Given the description of an element on the screen output the (x, y) to click on. 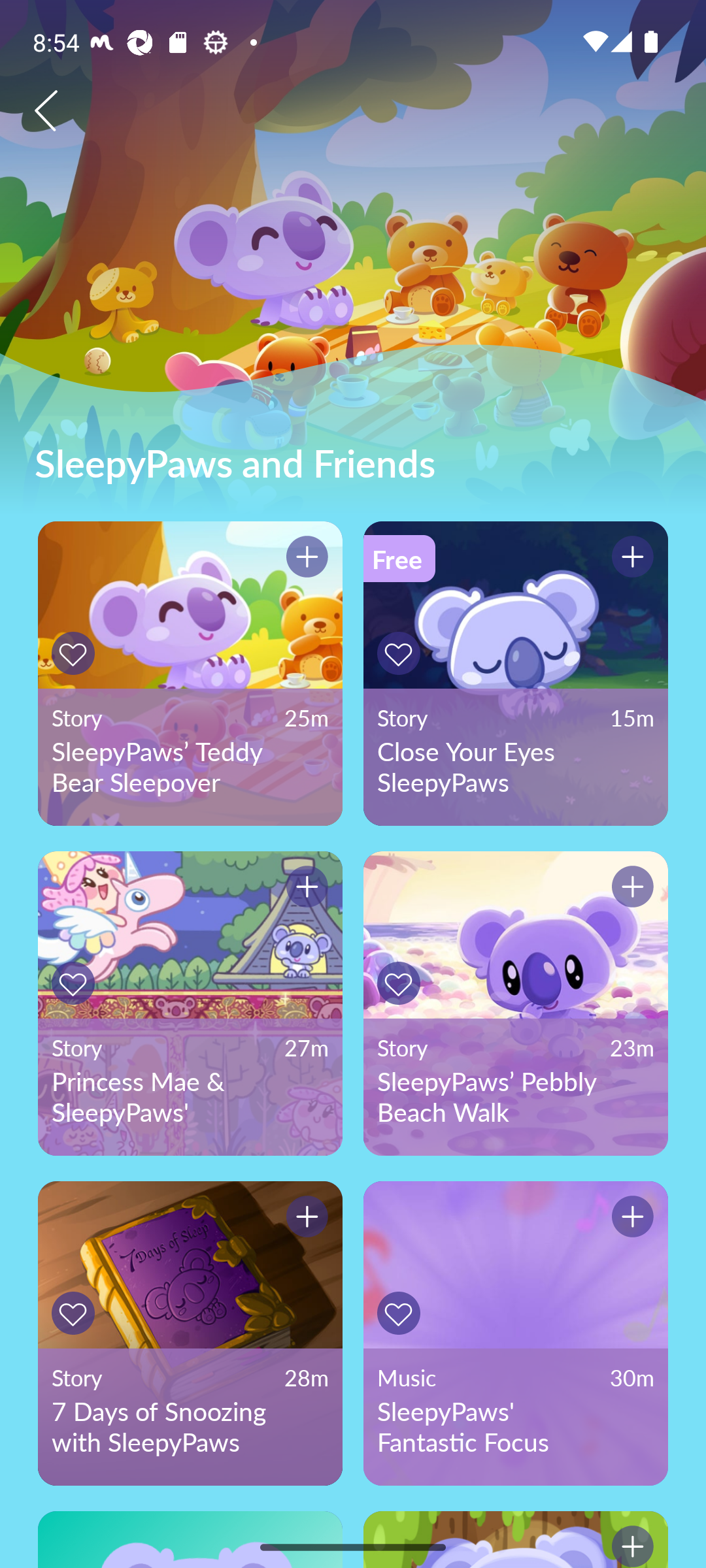
Button (304, 558)
Button (629, 558)
Button (76, 652)
Button (401, 652)
Button (304, 889)
Button (629, 889)
Button (76, 982)
Button (401, 982)
Button (304, 1218)
Button (629, 1218)
Button (76, 1312)
Button (401, 1312)
Button (629, 1539)
